Given the description of an element on the screen output the (x, y) to click on. 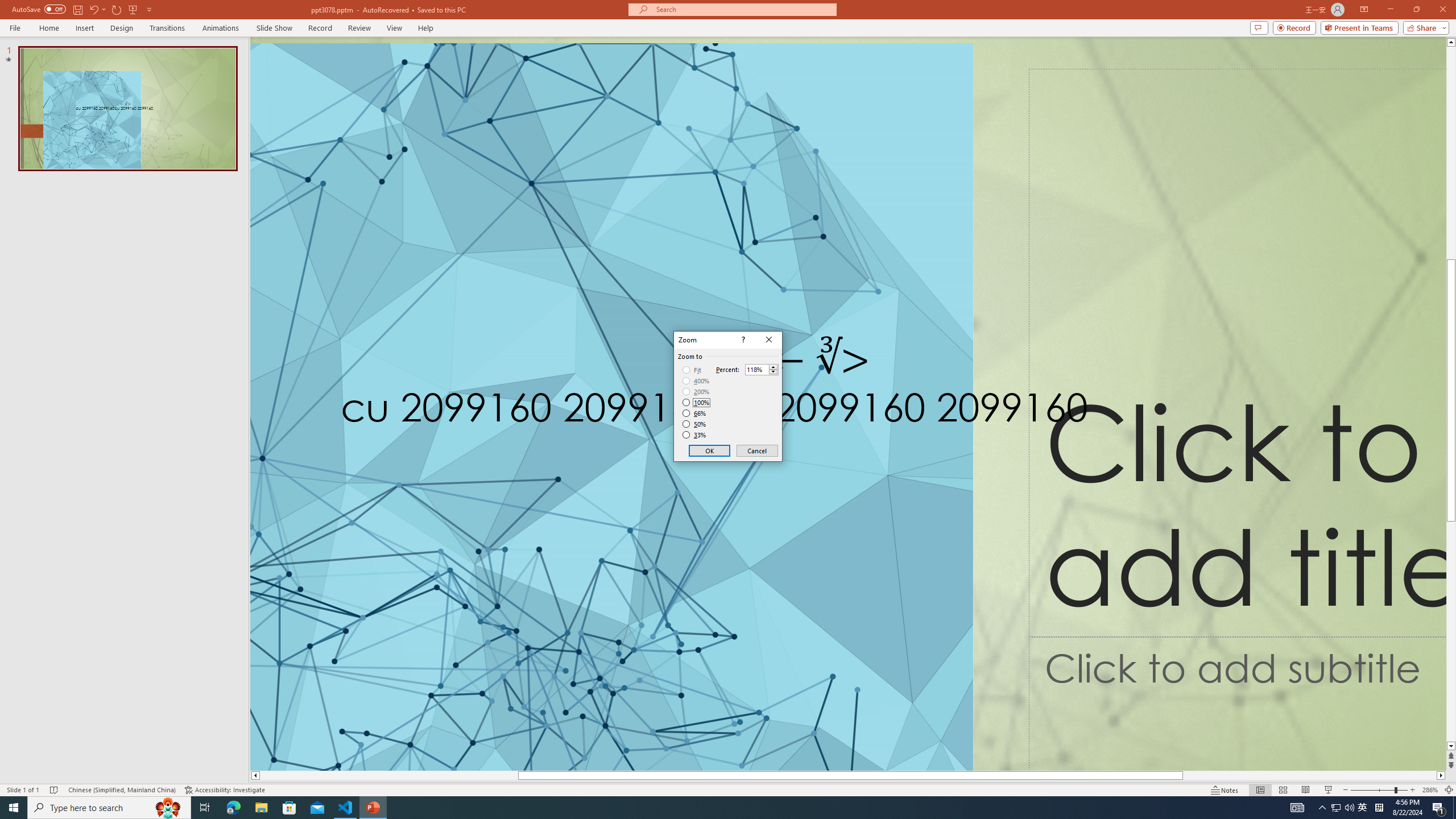
Percent (756, 369)
100% (696, 402)
50% (694, 424)
400% (696, 380)
33% (694, 434)
